Given the description of an element on the screen output the (x, y) to click on. 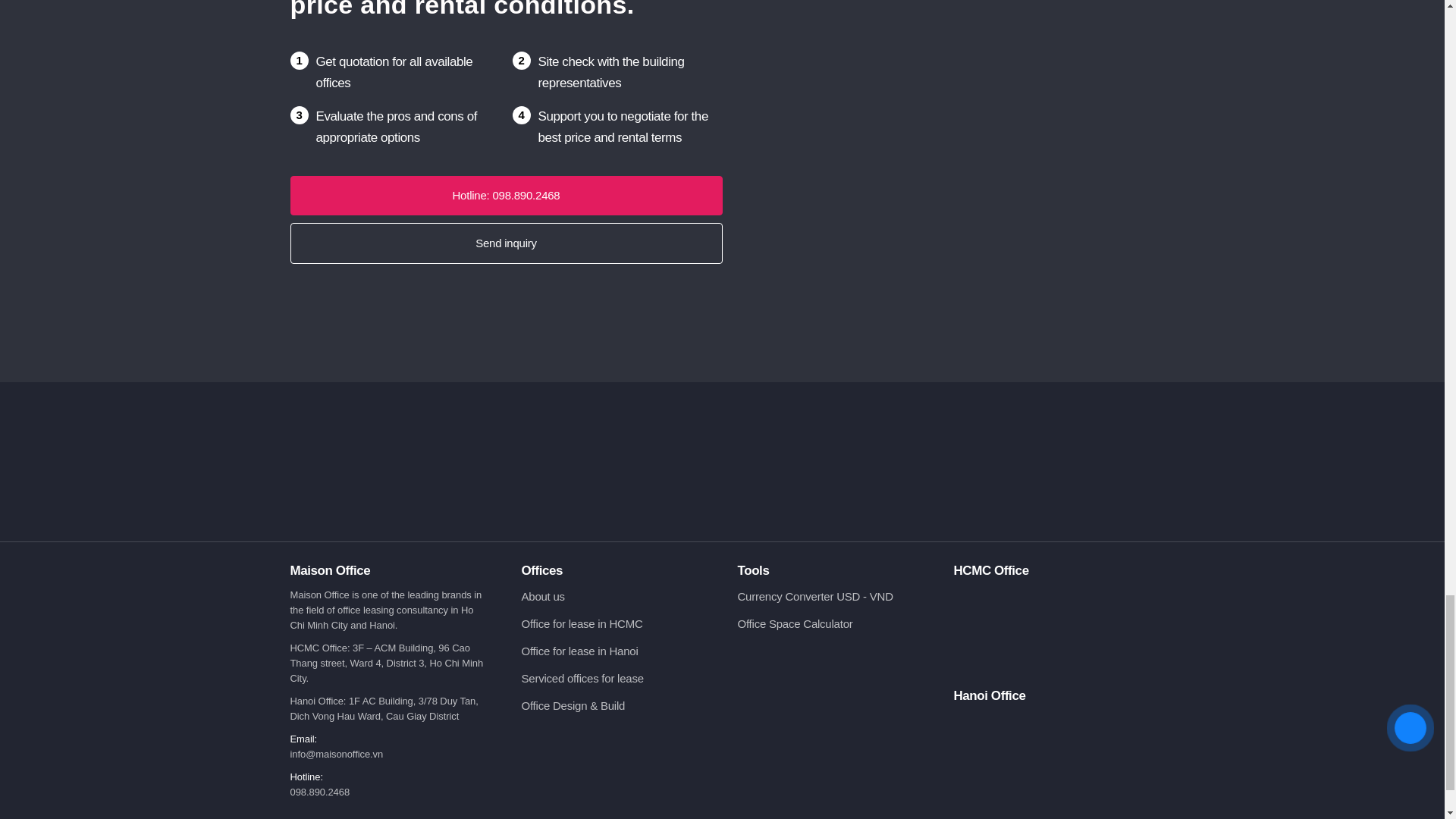
DMCA.com Protection Status (836, 711)
